Given the description of an element on the screen output the (x, y) to click on. 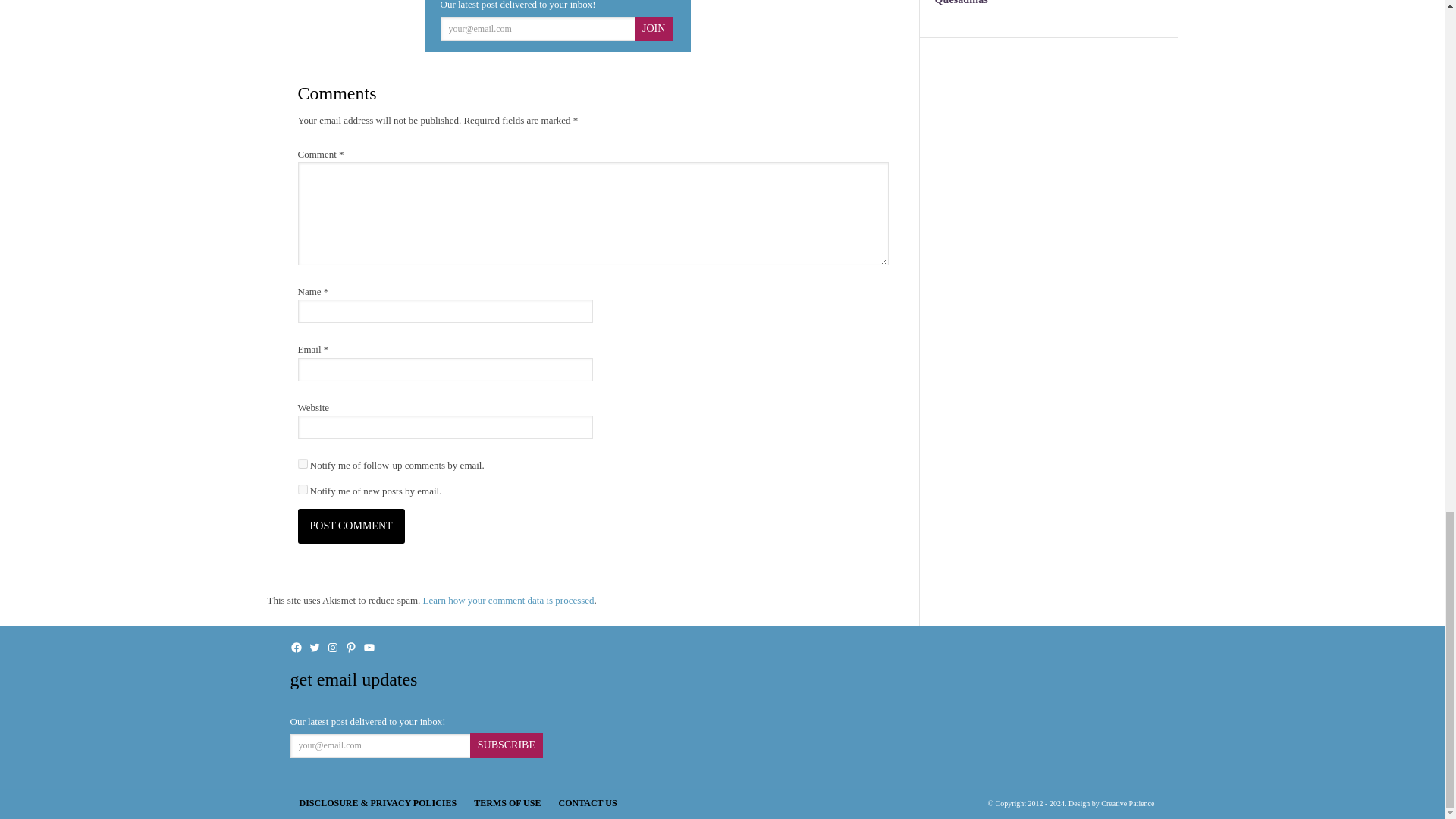
subscribe (302, 463)
Join (653, 28)
Post Comment (350, 525)
subscribe (302, 489)
Subscribe (506, 745)
